Given the description of an element on the screen output the (x, y) to click on. 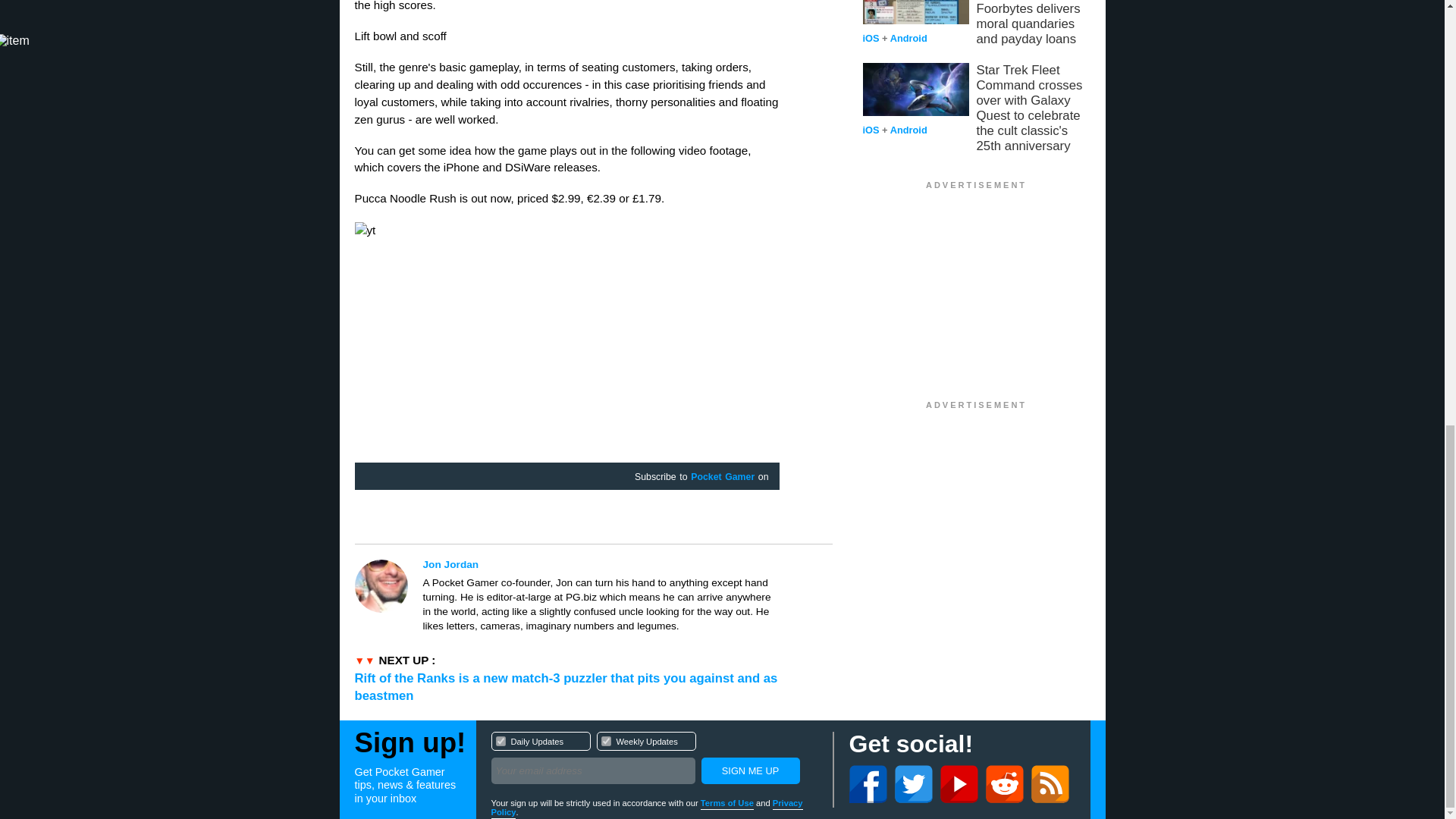
Sign Me Up (654, 759)
Jon Jordan (749, 770)
Pocket Gamer (600, 564)
1 (722, 477)
Sign Me Up (500, 741)
2 (749, 770)
